Given the description of an element on the screen output the (x, y) to click on. 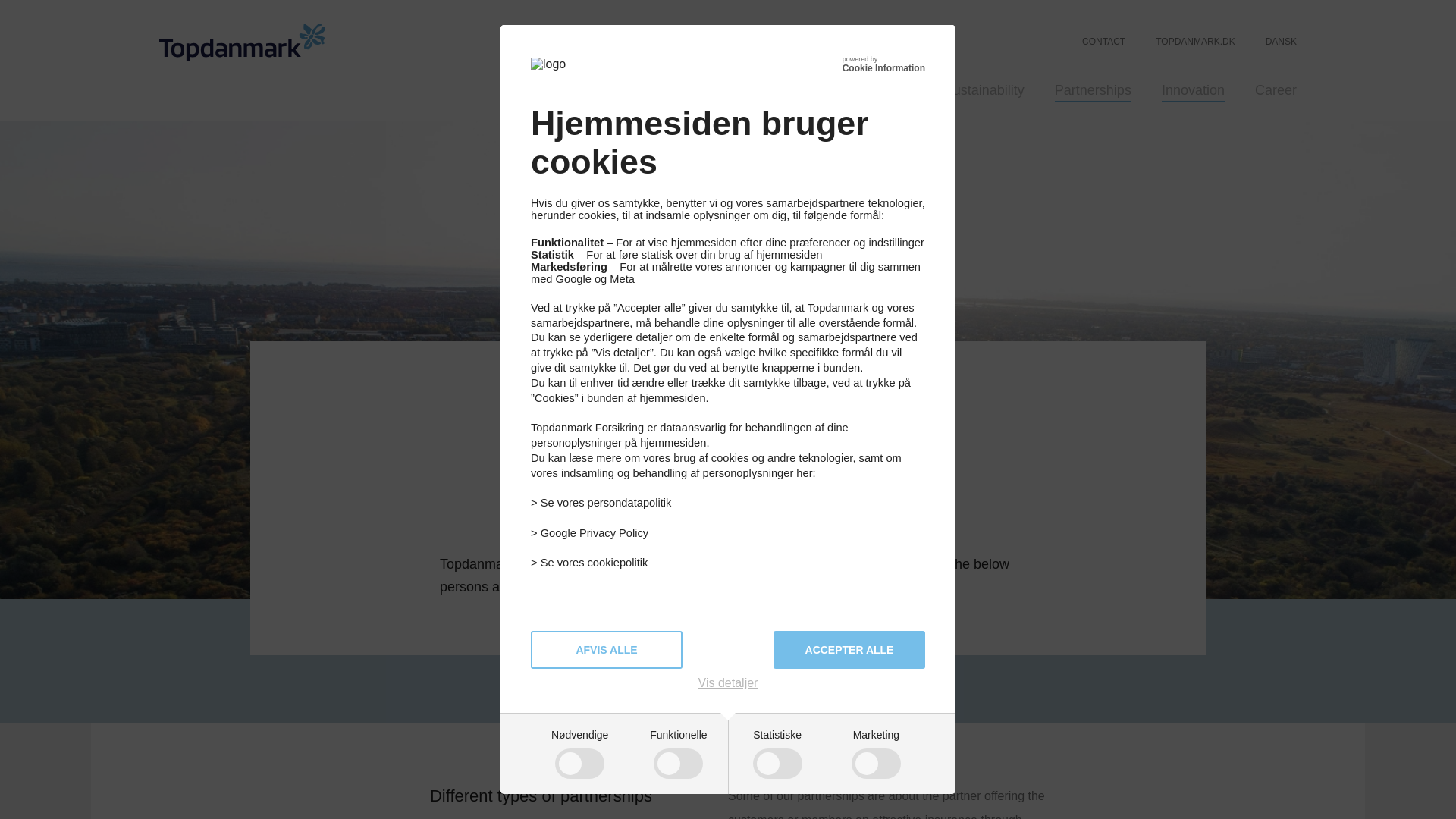
Vis detaljer (728, 683)
ACCEPTER ALLE (848, 649)
Cookie Information (883, 68)
AFVIS ALLE (606, 649)
